Given the description of an element on the screen output the (x, y) to click on. 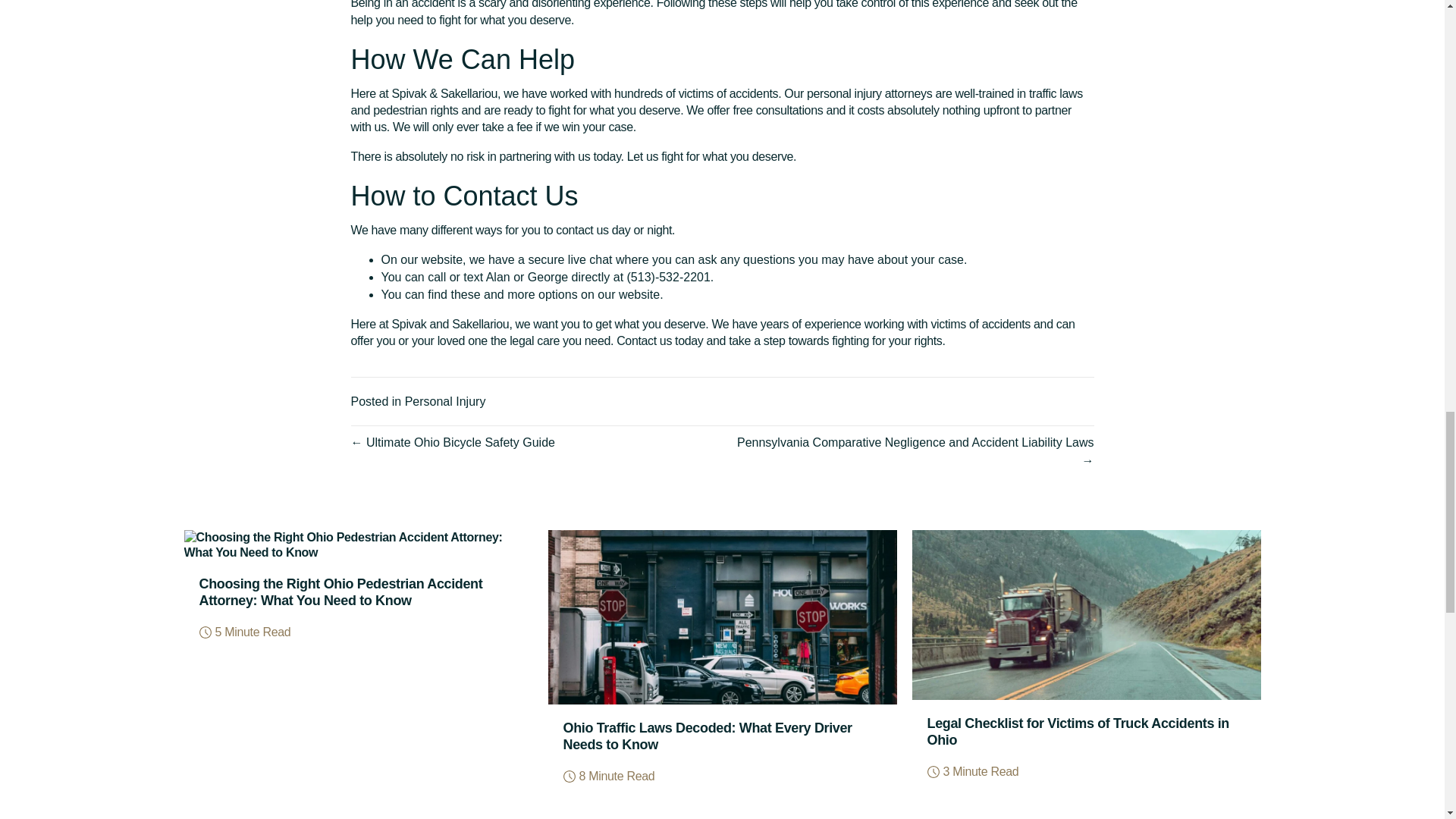
Personal Injury (445, 400)
more options on our website (582, 294)
